Given the description of an element on the screen output the (x, y) to click on. 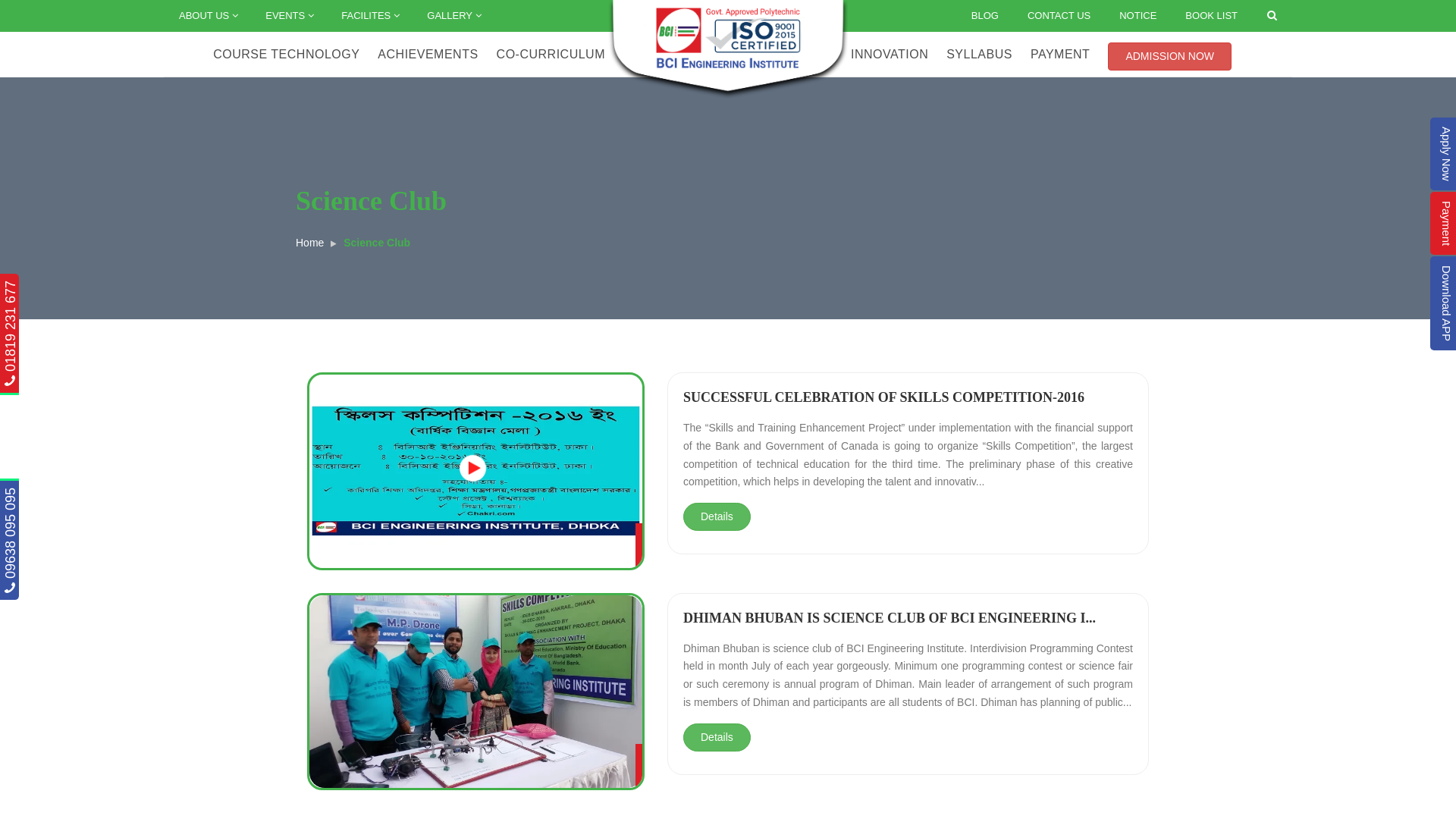
01819 231 677 Element type: text (55, 287)
SYLLABUS Element type: text (979, 56)
Details Element type: text (716, 737)
SUCCESSFUL CELEBRATION OF SKILLS COMPETITION-2016 Element type: text (883, 396)
COURSE TECHNOLOGY Element type: text (286, 56)
Details Element type: text (716, 516)
NOTICE Element type: text (1137, 15)
EVENTS Element type: text (288, 15)
ABOUT US Element type: text (206, 15)
INNOVATION Element type: text (889, 56)
CONTACT US Element type: text (1058, 15)
BLOG Element type: text (985, 15)
09638 095 095 Element type: text (55, 494)
BOOK LIST Element type: text (1211, 15)
GALLERY Element type: text (452, 15)
CO-CURRICULUM Element type: text (550, 56)
ACHIEVEMENTS Element type: text (427, 56)
PAYMENT Element type: text (1059, 56)
ADMISSION NOW Element type: text (1169, 55)
Home Element type: text (309, 242)
FACILITES Element type: text (368, 15)
DHIMAN BHUBAN IS SCIENCE CLUB OF BCI ENGINEERING I... Element type: text (889, 617)
